Given the description of an element on the screen output the (x, y) to click on. 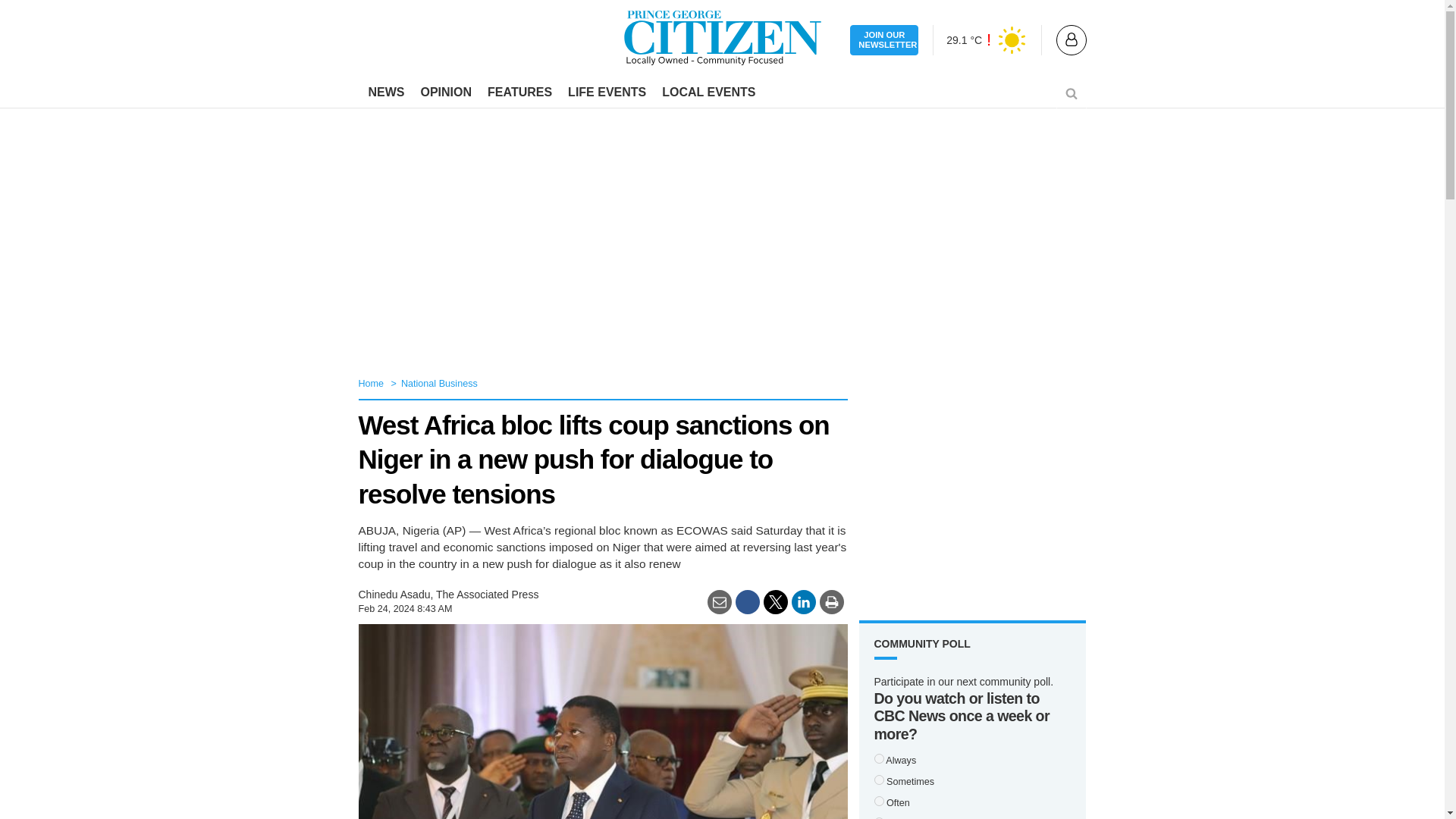
118558 (878, 779)
3rd party ad content (972, 491)
118556 (878, 758)
NEWS (386, 92)
OPINION (445, 92)
JOIN OUR NEWSLETTER (884, 40)
118557 (878, 800)
